Given the description of an element on the screen output the (x, y) to click on. 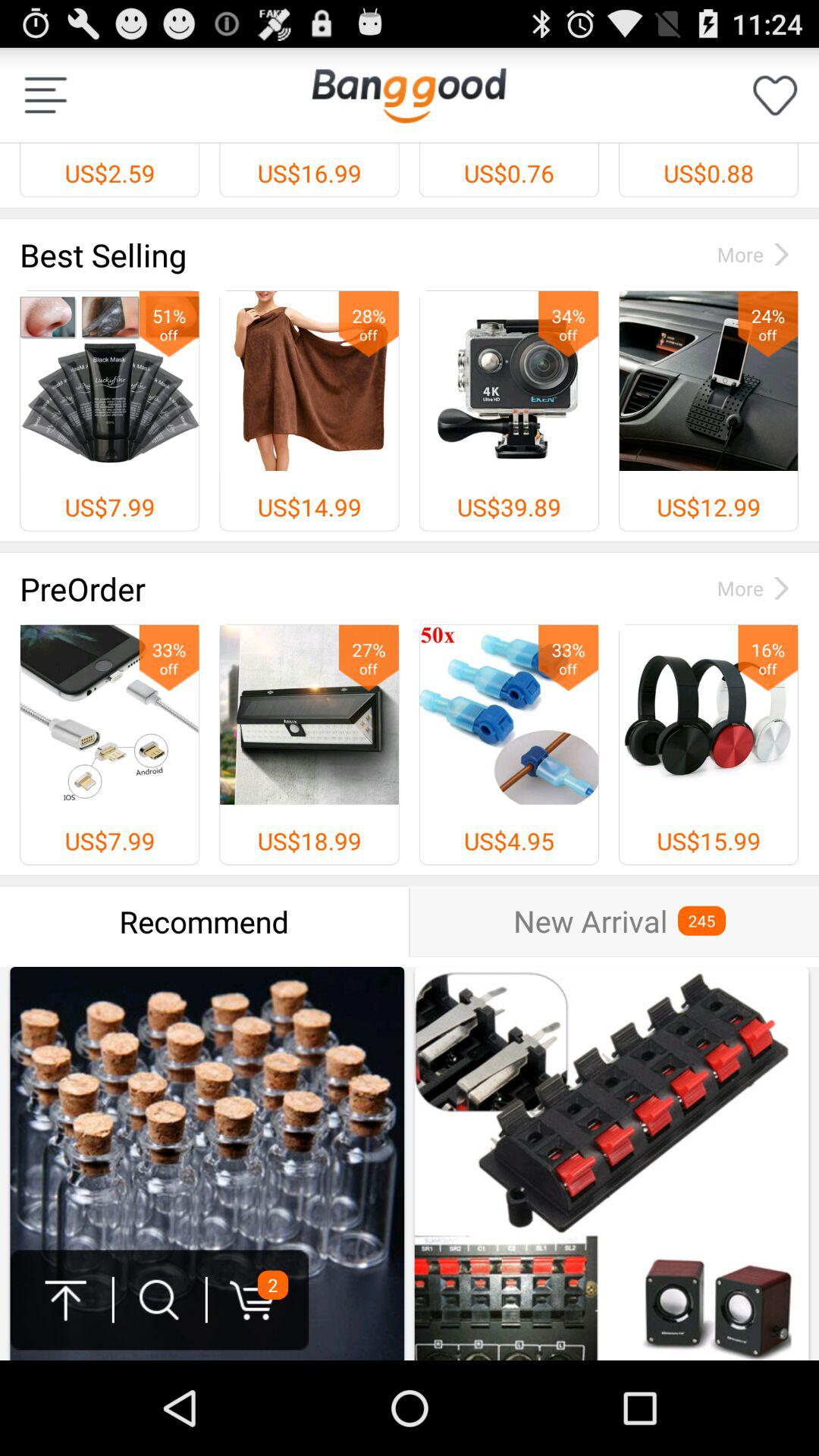
select new arrival (590, 920)
